Given the description of an element on the screen output the (x, y) to click on. 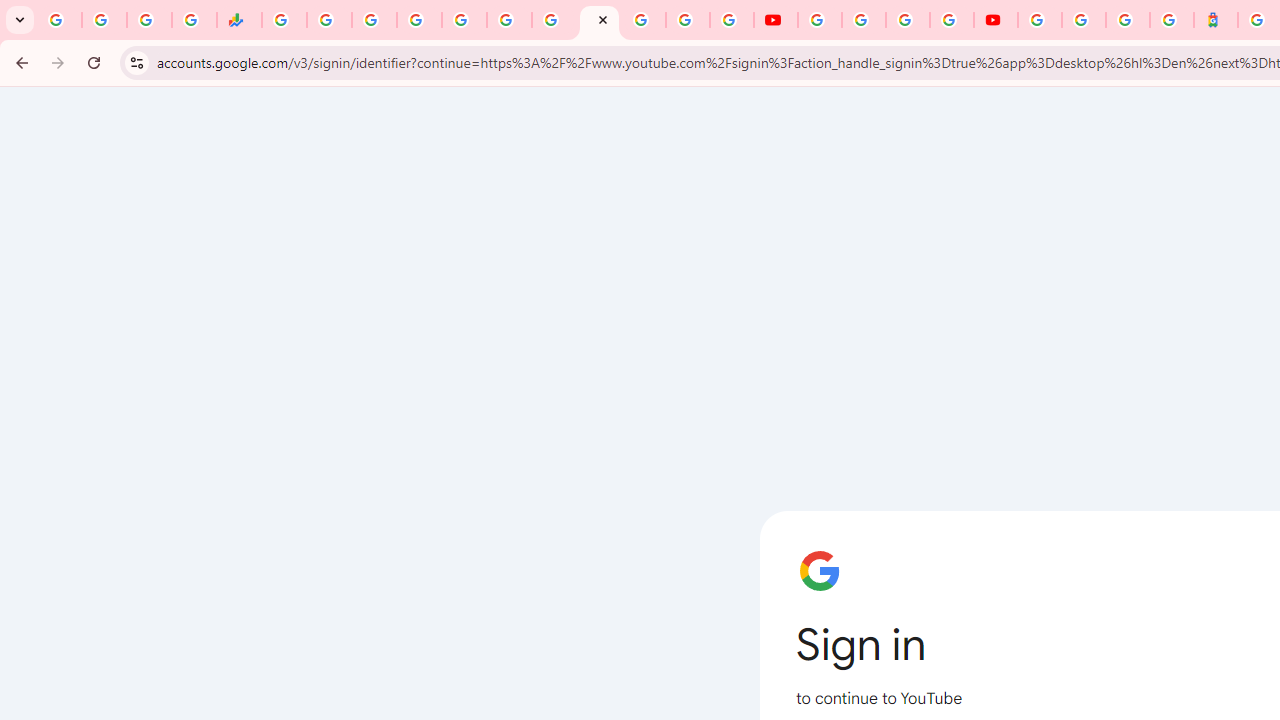
Sign in - Google Accounts (643, 20)
Google Workspace Admin Community (59, 20)
Google Account Help (863, 20)
Create your Google Account (907, 20)
Content Creator Programs & Opportunities - YouTube Creators (995, 20)
YouTube (775, 20)
